Given the description of an element on the screen output the (x, y) to click on. 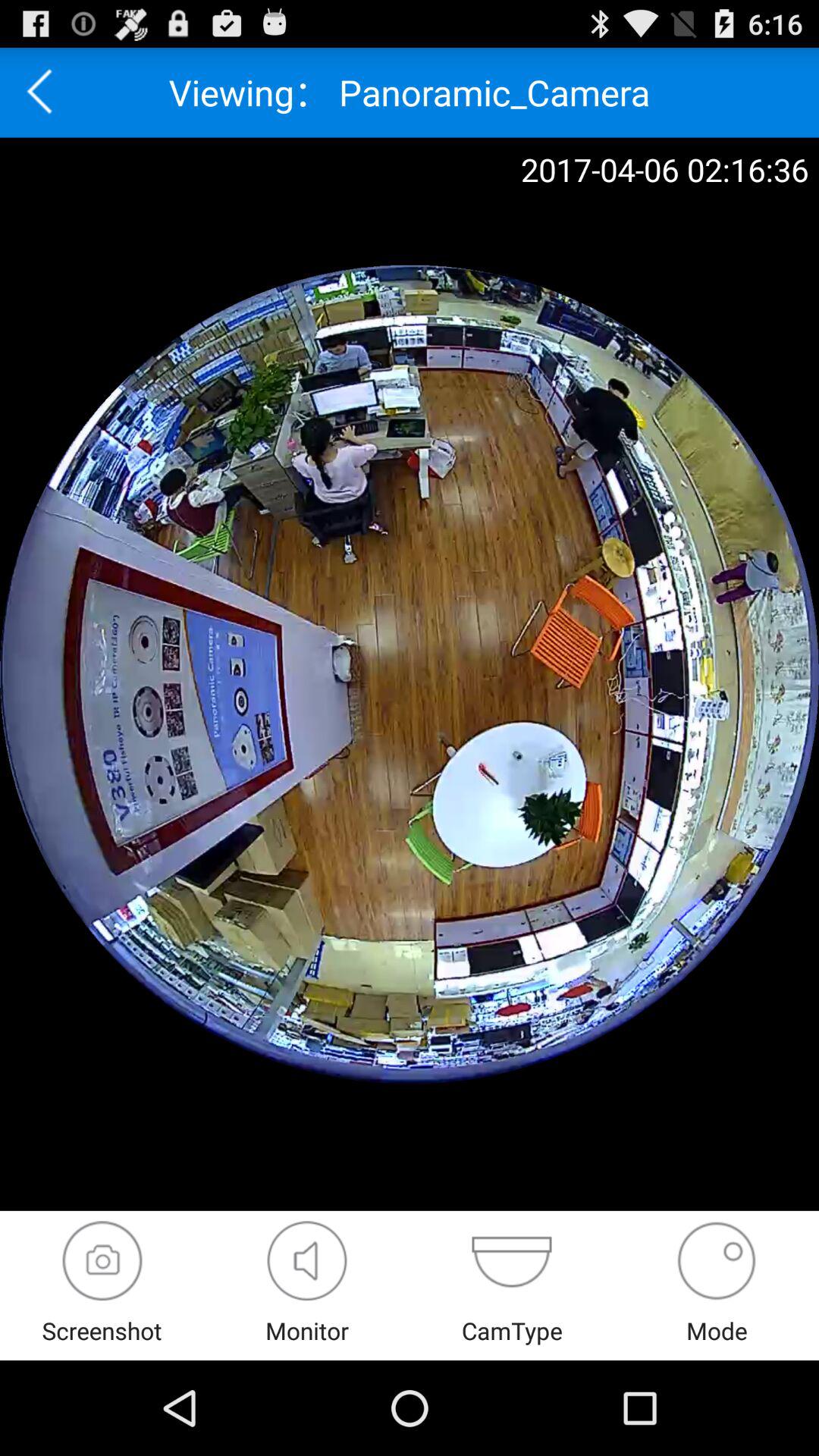
switch mode (716, 1260)
